Given the description of an element on the screen output the (x, y) to click on. 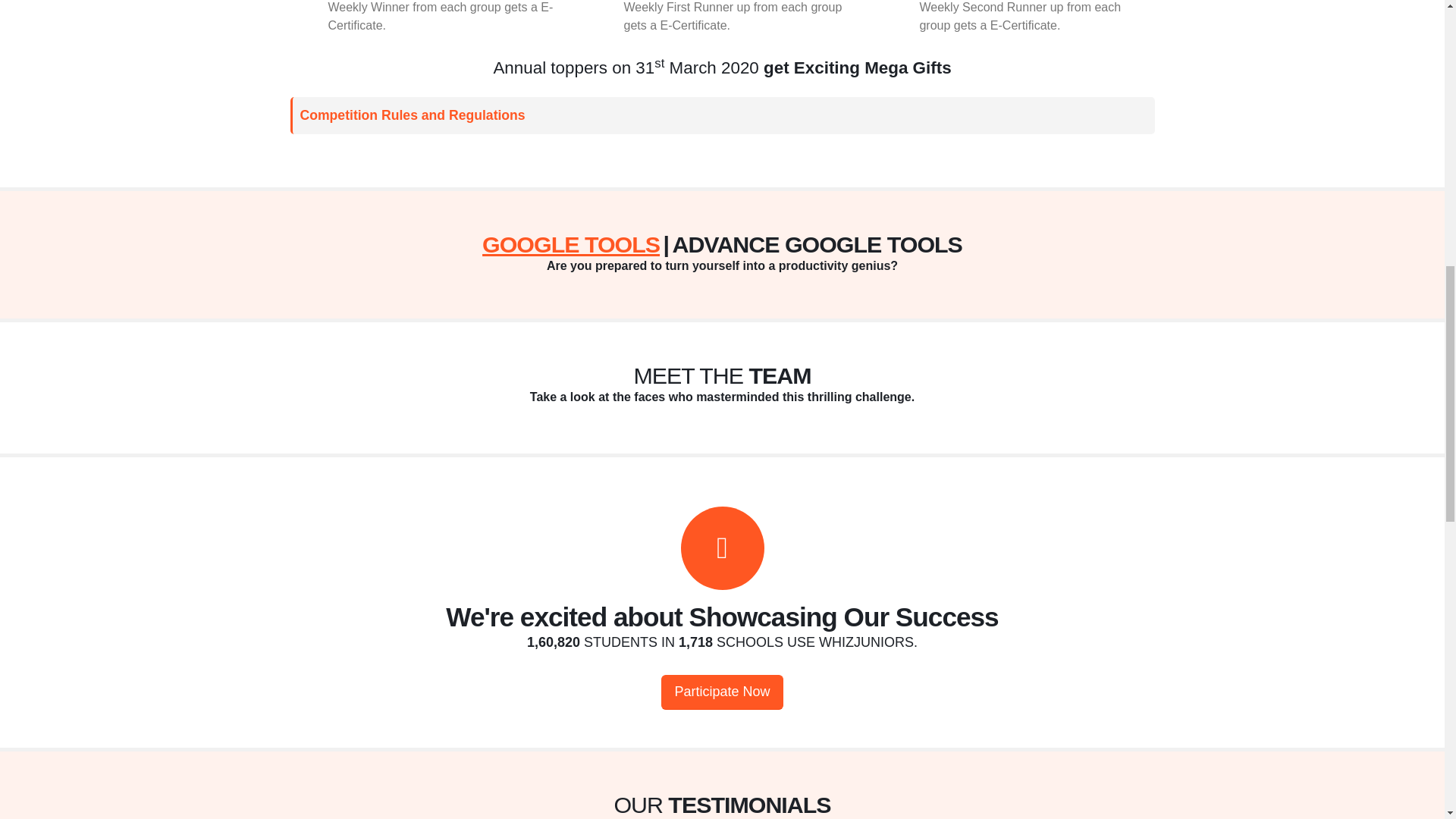
Competition Rules and Regulations (721, 115)
Participate Now (722, 692)
